Given the description of an element on the screen output the (x, y) to click on. 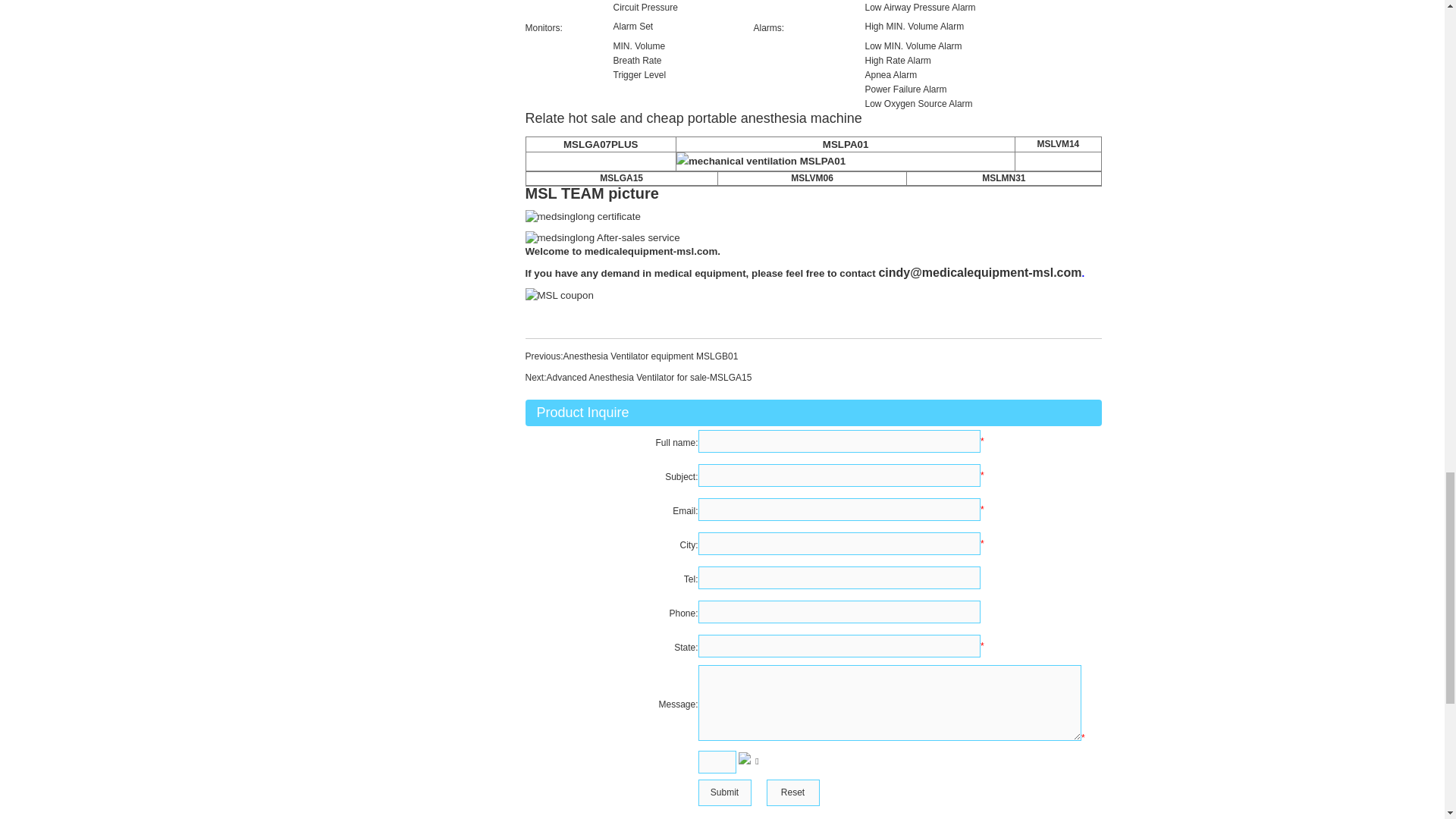
Advanced Anesthesia Ventilator for sale-MSLGA15 (649, 377)
Portable ventilator machine-MSLPA01 (844, 143)
Submit (724, 792)
Anesthesia Ventilator equipment MSLGB01 (650, 356)
Portable ventilator machine-MSLPA01 (845, 161)
Reset (791, 792)
